Given the description of an element on the screen output the (x, y) to click on. 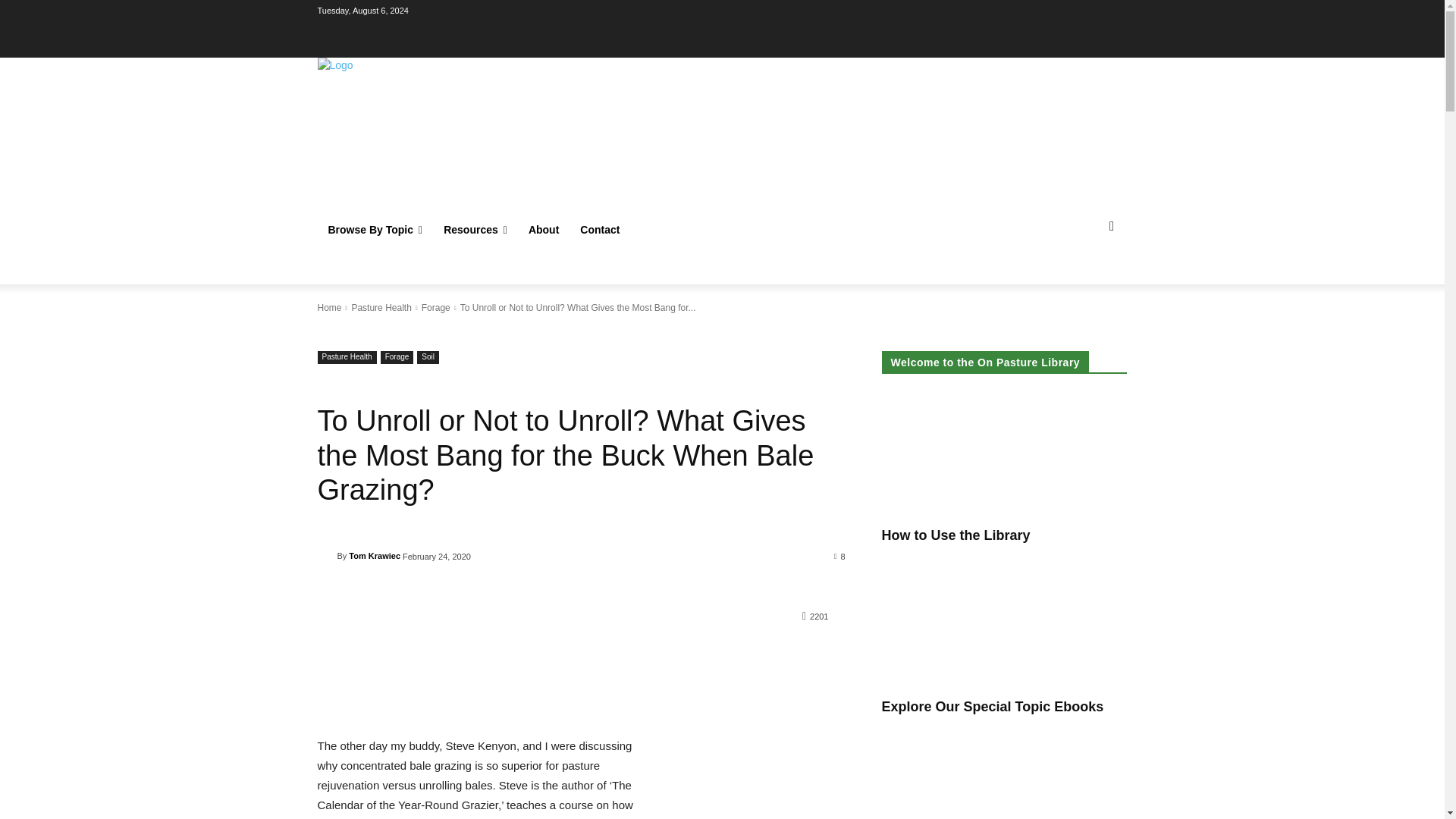
View all posts in Forage (435, 307)
Tom Krawiec (326, 555)
View all posts in Pasture Health (380, 307)
